Given the description of an element on the screen output the (x, y) to click on. 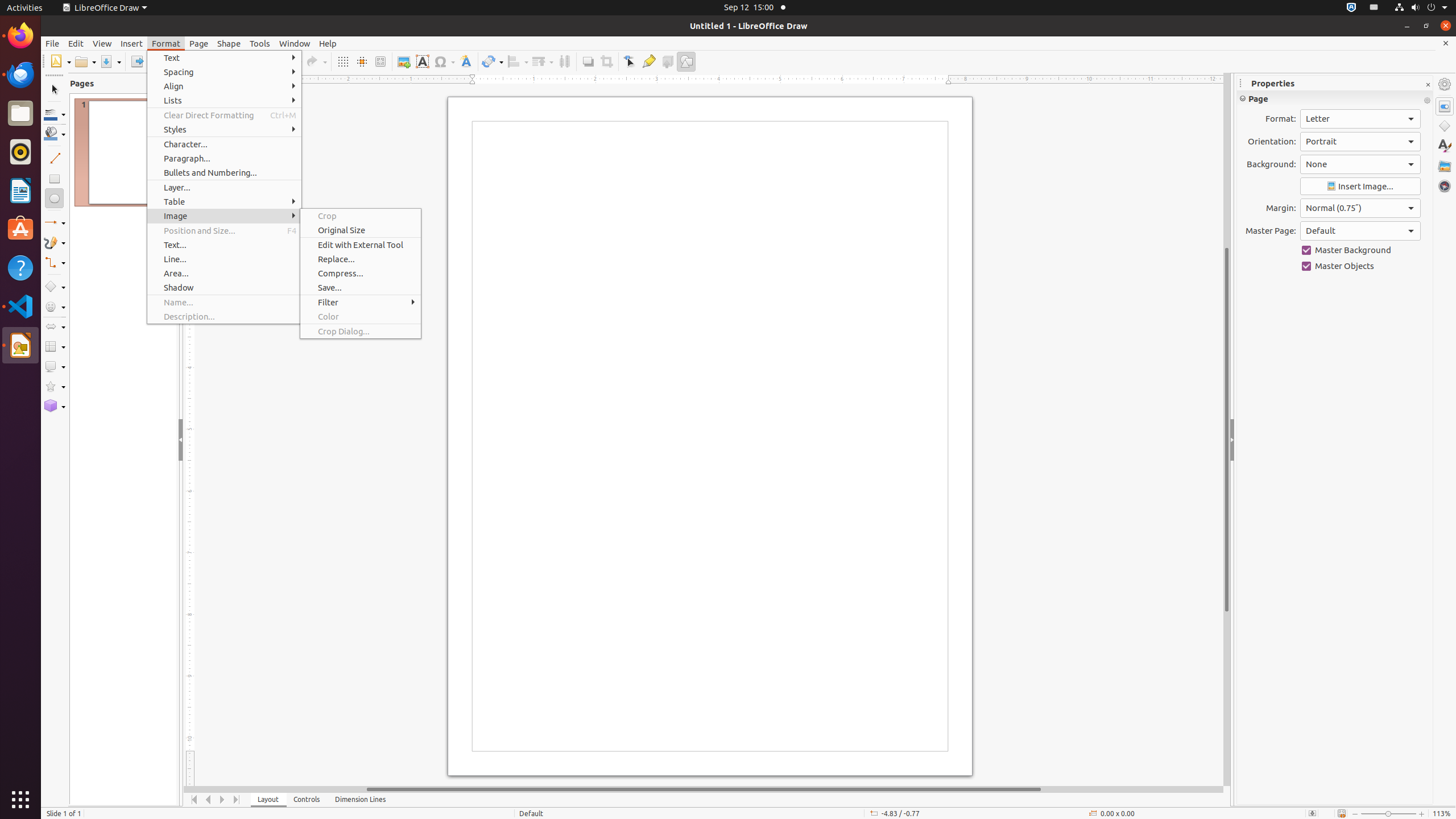
More Options Element type: push-button (1426, 100)
Table Element type: menu (224, 201)
Replace... Element type: menu-item (360, 258)
Horizontal scroll bar Element type: scroll-bar (703, 789)
Vertical scroll bar Element type: scroll-bar (1226, 429)
